Given the description of an element on the screen output the (x, y) to click on. 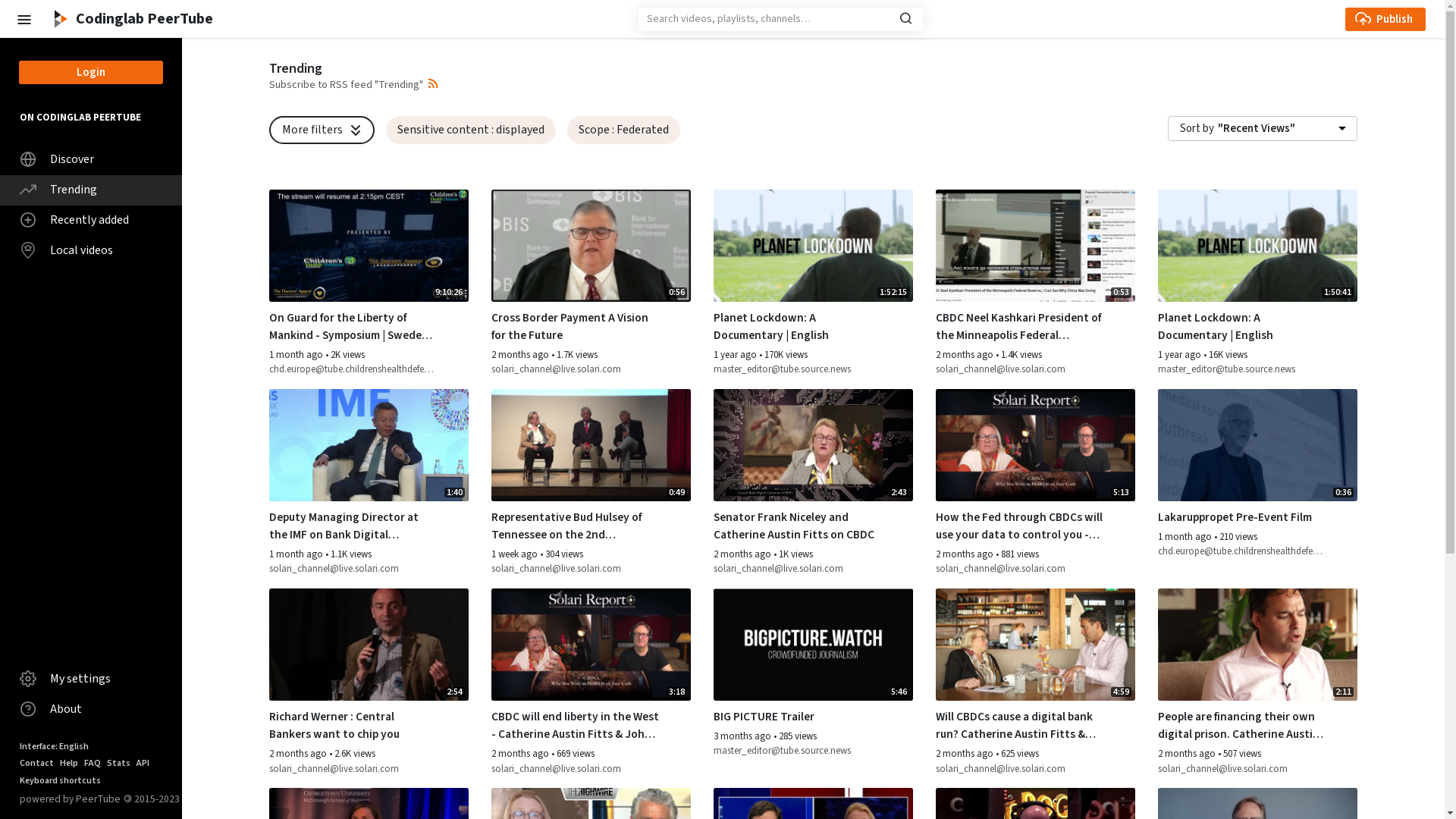
Richard Werner : Central Bankers want to chip you Element type: text (353, 725)
Login Element type: text (90, 72)
solari_channel@live.solari.com Element type: text (1019, 369)
Help Element type: text (68, 763)
BIG PICTURE Trailer Element type: text (797, 716)
Sensitive content : displayed Element type: text (470, 130)
Recently added Element type: text (91, 219)
2:54 Element type: text (368, 644)
More filters Element type: text (321, 130)
master_editor@tube.source.news Element type: text (797, 751)
powered by PeerTube Element type: text (69, 798)
master_editor@tube.source.news Element type: text (1242, 369)
Representative Bud Hulsey of Tennessee on the 2nd Amendment Element type: text (575, 525)
Senator Frank Niceley and Catherine Austin Fitts on CBDC Element type: text (797, 525)
0:53 Element type: text (1035, 245)
solari_channel@live.solari.com Element type: text (575, 369)
chd.europe@tube.childrenshealthdefense.eu Element type: text (1242, 551)
chd.europe@tube.childrenshealthdefense.eu Element type: text (353, 369)
1:40 Element type: text (368, 445)
1:52:15 Element type: text (813, 245)
Stats Element type: text (118, 763)
solari_channel@live.solari.com Element type: text (797, 569)
Scope : Federated Element type: text (623, 130)
Planet Lockdown: A Documentary | English Element type: text (1242, 326)
Planet Lockdown: A Documentary | English Element type: text (797, 326)
9:10:26 Element type: text (368, 245)
Codinglab PeerTube Element type: text (131, 18)
API Element type: text (142, 763)
Cross Border Payment A Vision for the Future Element type: text (575, 326)
2:11 Element type: text (1257, 644)
Publish Element type: text (1385, 19)
Close the left menu Element type: hover (23, 18)
2:43 Element type: text (813, 445)
Interface: English Element type: text (53, 746)
solari_channel@live.solari.com Element type: text (353, 569)
Keyboard shortcuts Element type: text (59, 780)
solari_channel@live.solari.com Element type: text (1019, 769)
Contact Element type: text (36, 763)
solari_channel@live.solari.com Element type: text (1019, 569)
solari_channel@live.solari.com Element type: text (575, 769)
My settings Element type: text (91, 679)
FAQ Element type: text (92, 763)
0:49 Element type: text (590, 445)
solari_channel@live.solari.com Element type: text (575, 569)
0:36 Element type: text (1257, 445)
0:56 Element type: text (590, 245)
solari_channel@live.solari.com Element type: text (353, 769)
About Element type: text (91, 709)
1:50:41 Element type: text (1257, 245)
solari_channel@live.solari.com Element type: text (1242, 769)
Trending Element type: text (91, 189)
master_editor@tube.source.news Element type: text (797, 369)
Discover Element type: text (91, 159)
3:18 Element type: text (590, 644)
5:46 Element type: text (813, 644)
Search Element type: hover (905, 16)
Local videos Element type: text (91, 250)
5:13 Element type: text (1035, 445)
Lakaruppropet Pre-Event Film Element type: text (1242, 517)
4:59 Element type: text (1035, 644)
